Given the description of an element on the screen output the (x, y) to click on. 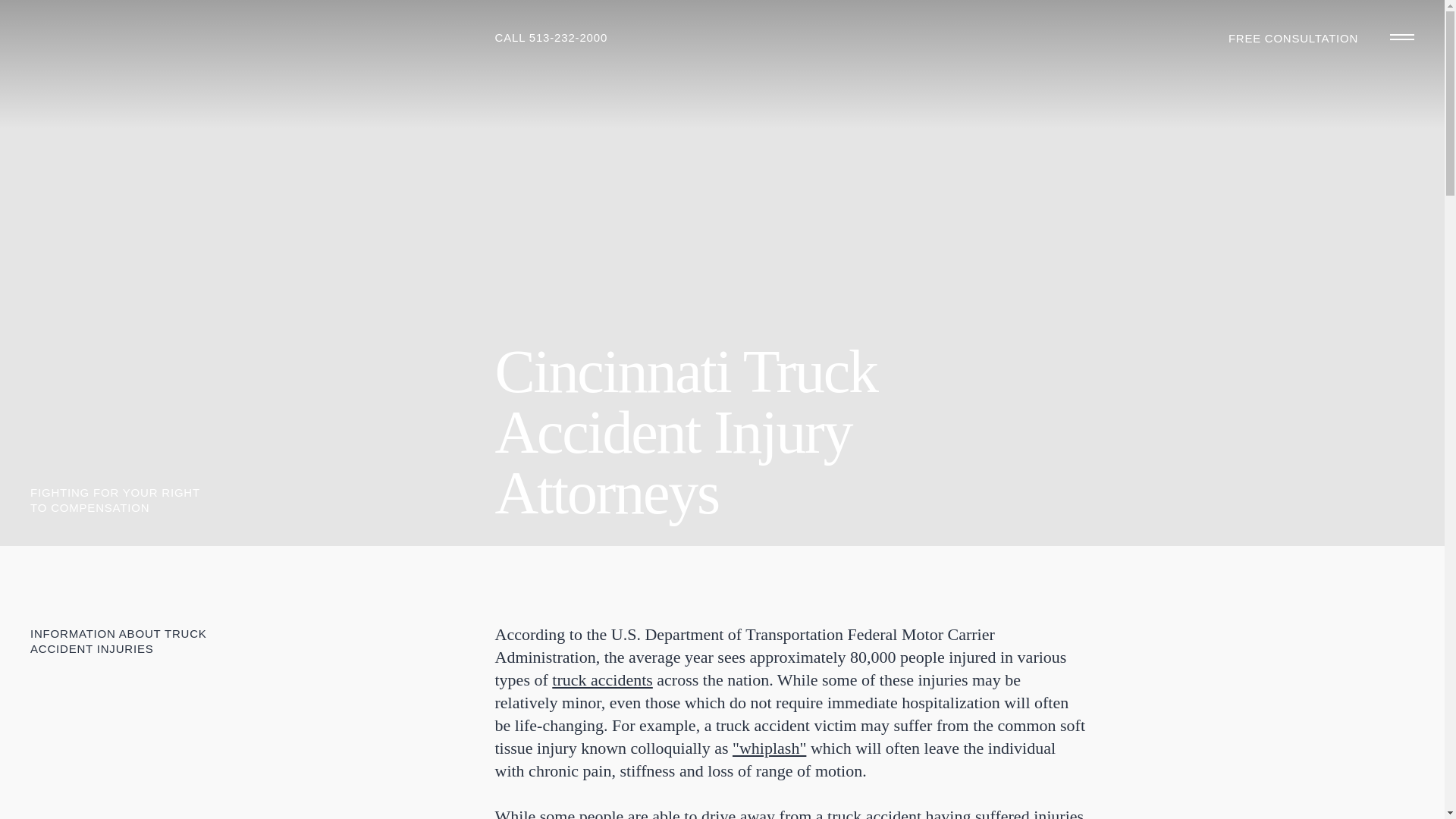
"whiplash" (769, 747)
FREE CONSULTATION (1293, 38)
truck accidents (601, 679)
CALL 513-232-2000 (551, 37)
